Given the description of an element on the screen output the (x, y) to click on. 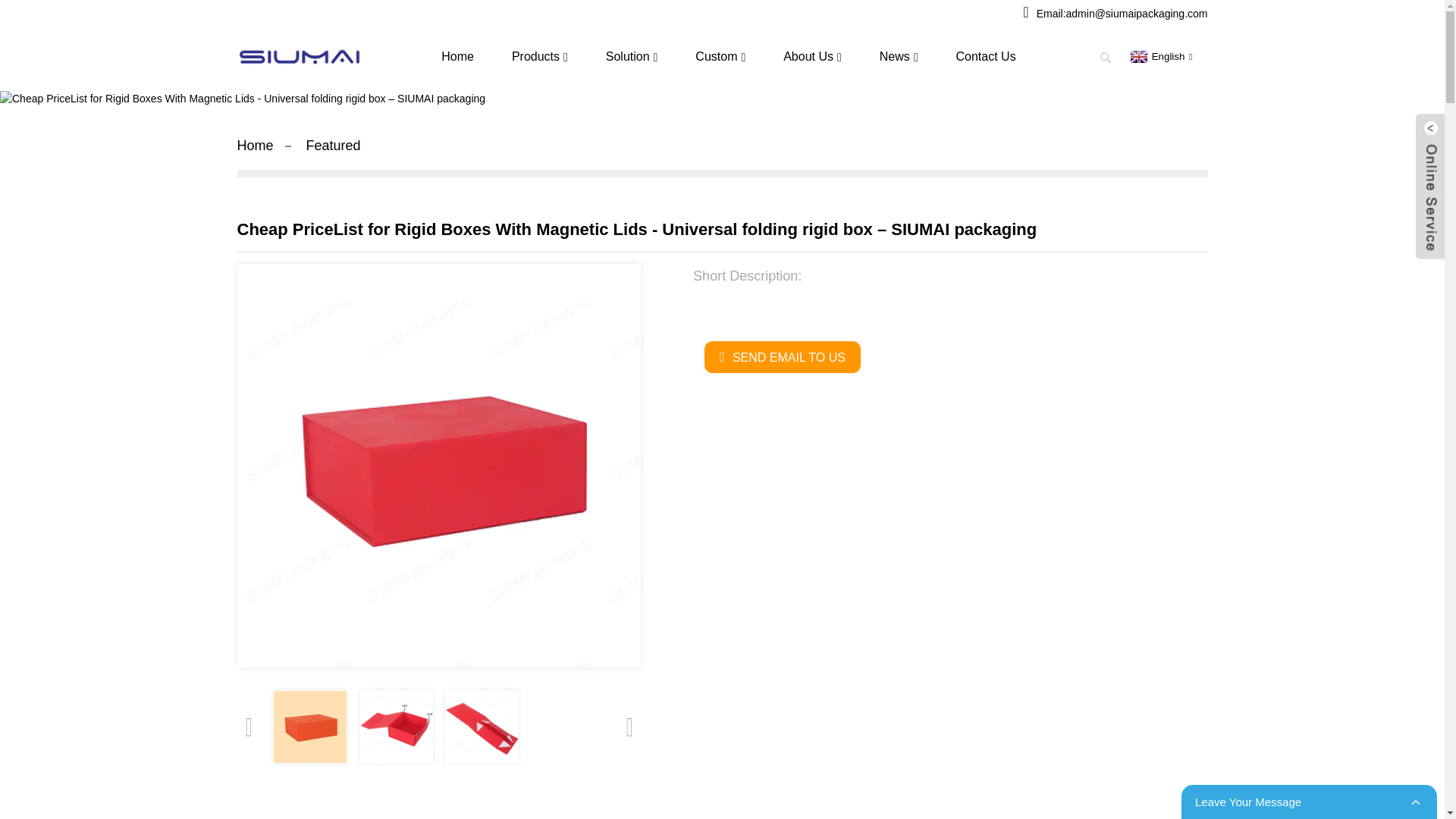
News (898, 56)
English (1159, 56)
About Us (812, 56)
Featured (333, 145)
Contact Us (984, 56)
Solution (631, 56)
Products (539, 56)
Featured (333, 145)
Home (254, 145)
SEND EMAIL TO US (782, 357)
